Given the description of an element on the screen output the (x, y) to click on. 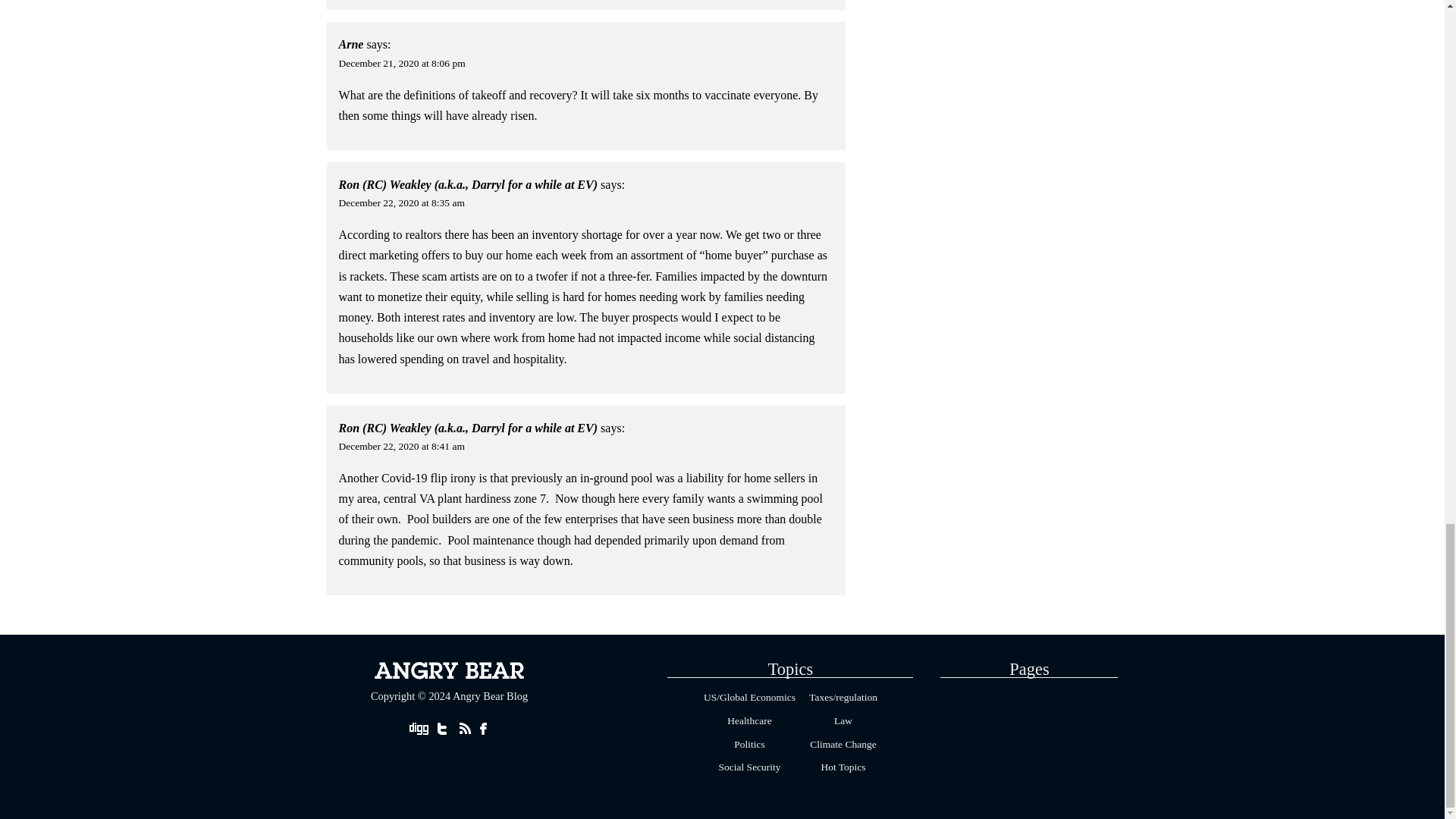
December 22, 2020 at 8:41 am (401, 446)
December 22, 2020 at 8:35 am (401, 202)
December 21, 2020 at 8:06 pm (402, 62)
